Given the description of an element on the screen output the (x, y) to click on. 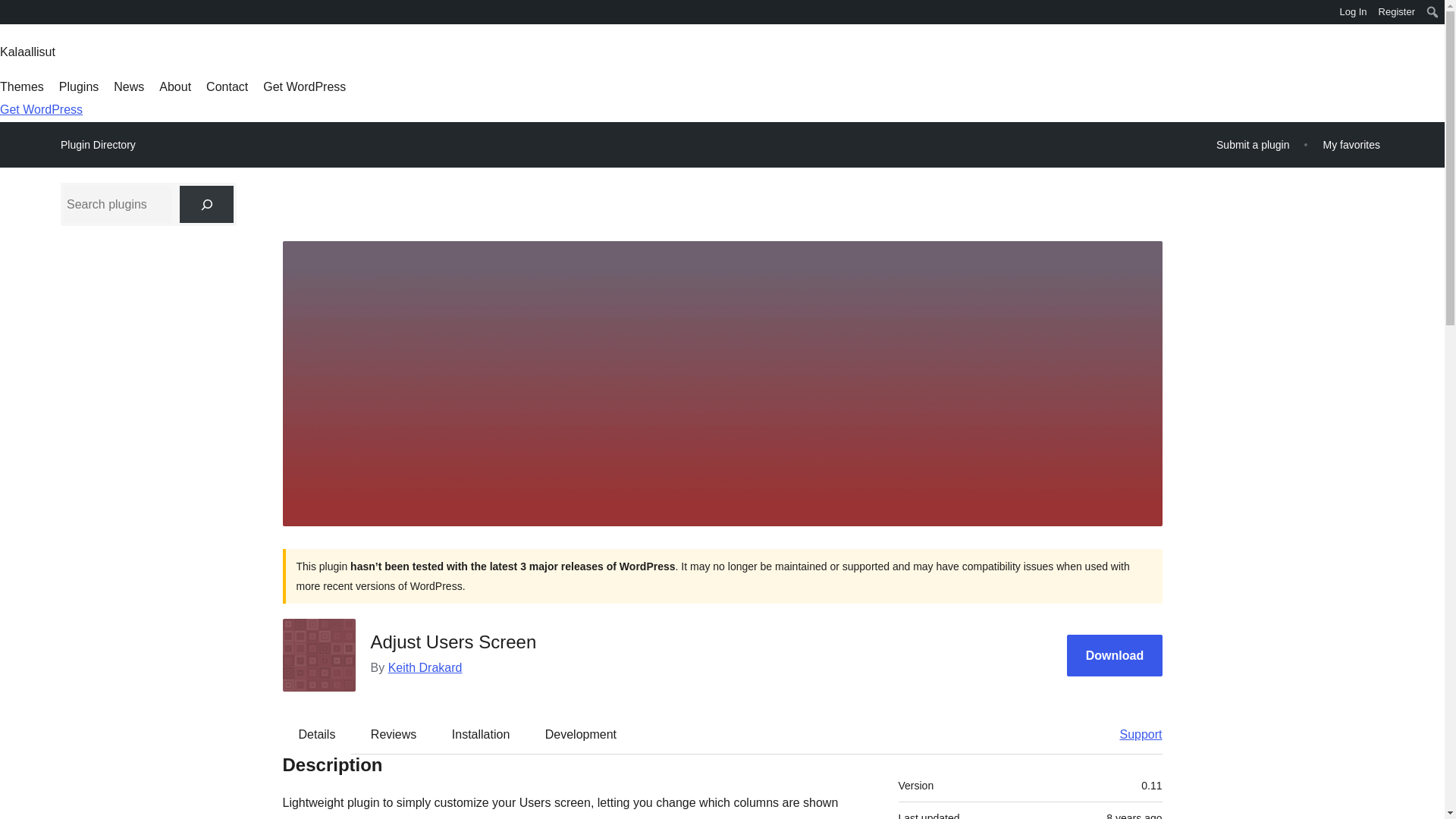
Register (1397, 12)
Reviews (392, 733)
Support (1132, 733)
Get WordPress (304, 87)
Get WordPress (41, 109)
WordPress.org (10, 16)
My favorites (1351, 144)
Themes (21, 87)
Log In (1353, 12)
Plugin Directory (97, 144)
